Given the description of an element on the screen output the (x, y) to click on. 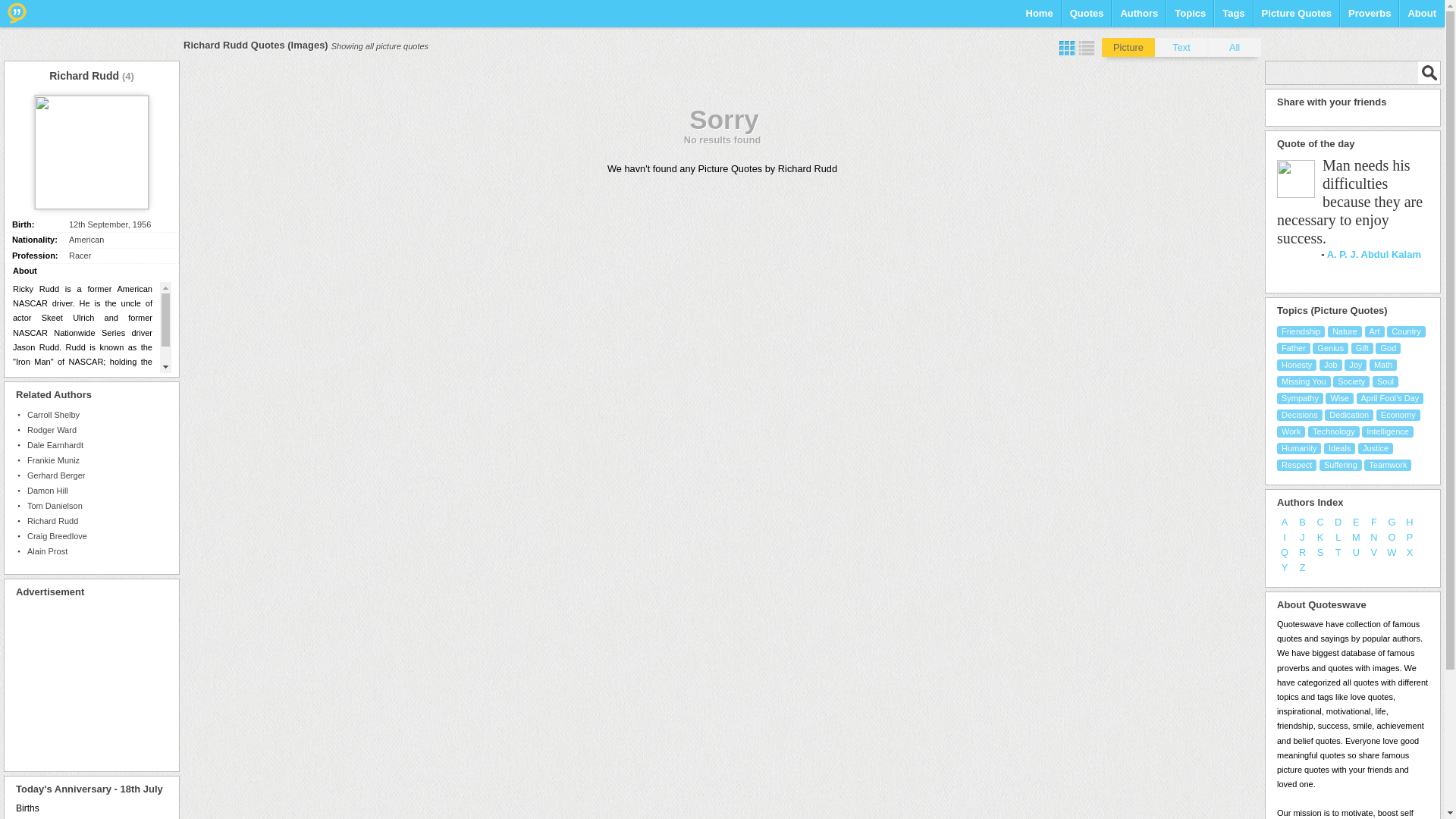
Home (1039, 18)
Topics (1189, 18)
Home (1039, 18)
Search (1429, 72)
Go to Home (16, 13)
Browse by Authors (1138, 18)
Quotes (1086, 18)
Authors (1138, 18)
Quotes (1086, 18)
